Given the description of an element on the screen output the (x, y) to click on. 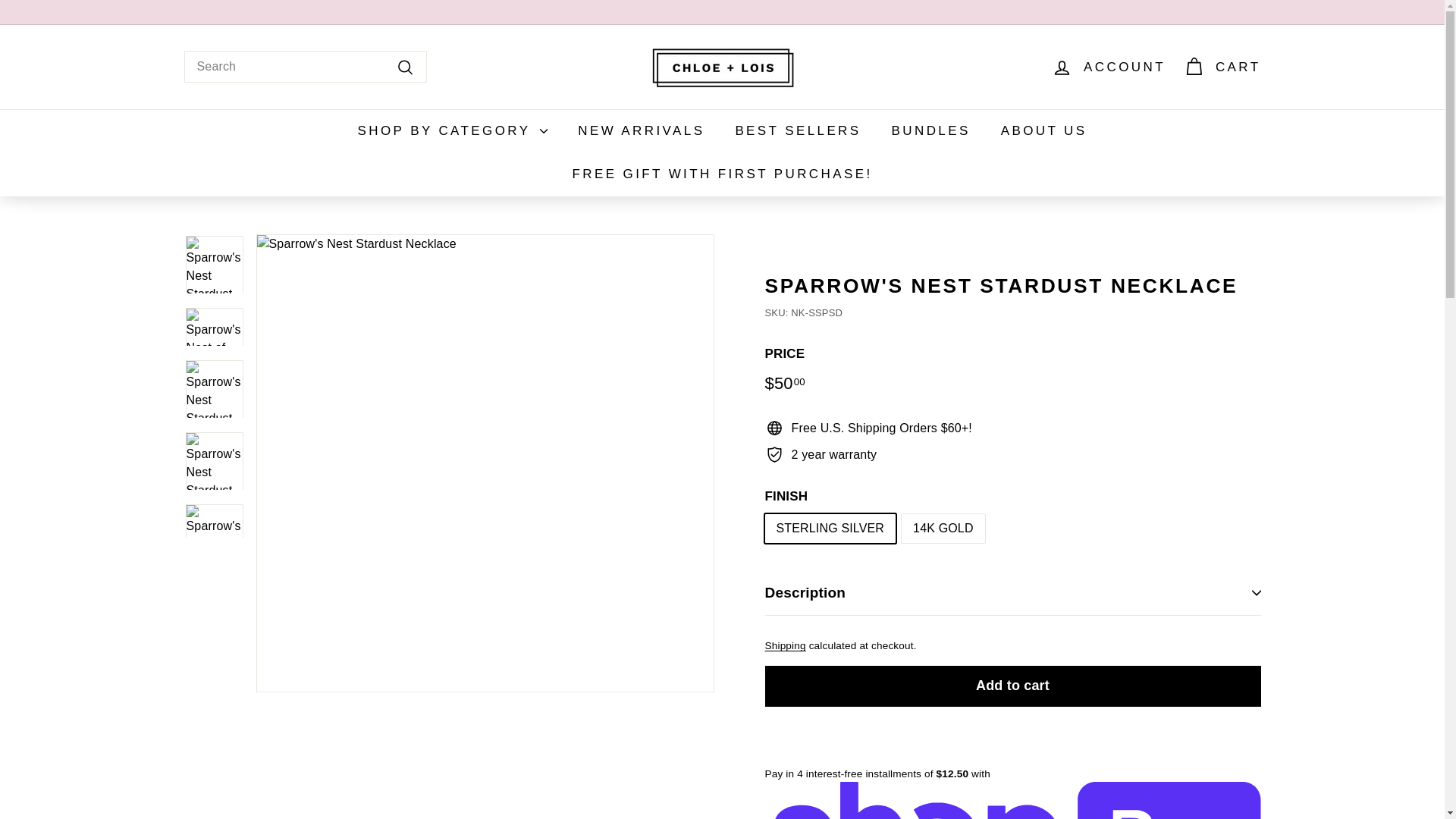
CART (1221, 67)
ABOUT US (1043, 130)
BEST SELLERS (797, 130)
ACCOUNT (1108, 67)
BUNDLES (930, 130)
NEW ARRIVALS (640, 130)
FREE GIFT WITH FIRST PURCHASE! (721, 174)
